Given the description of an element on the screen output the (x, y) to click on. 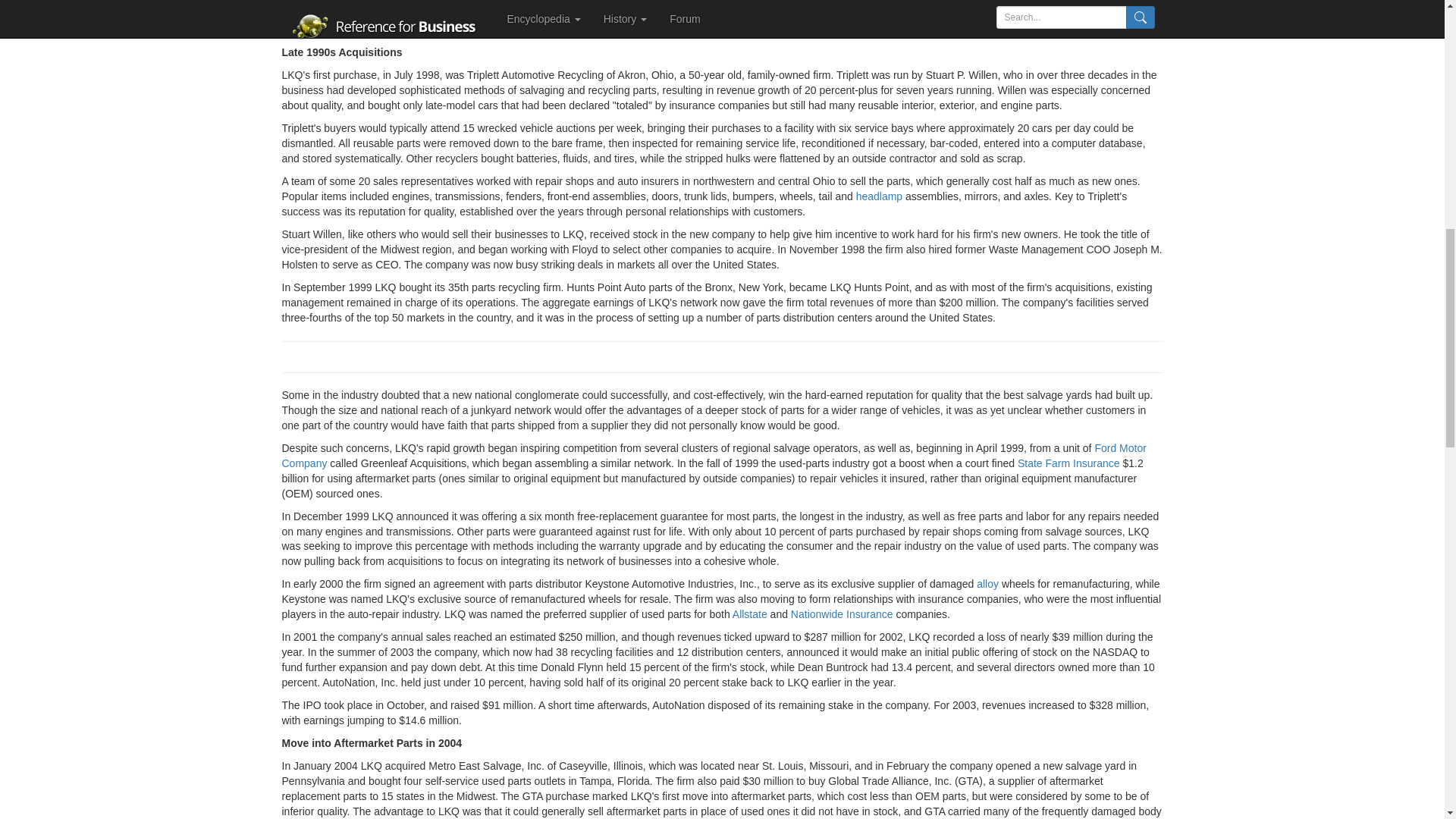
Nationwide Insurance (841, 613)
alloy (987, 583)
View 'ford motor company' definition from Wikipedia (714, 455)
View 'headlamp' definition from Wikipedia (879, 196)
View 'nationwide insurance' definition from Wikipedia (841, 613)
headlamp (879, 196)
View 'allstate' definition from Wikipedia (749, 613)
shorthand (369, 29)
View 'alloy' definition from Wikipedia (987, 583)
Ford Motor Company (714, 455)
State Farm Insurance (1068, 463)
Allstate (749, 613)
View 'state farm insurance' definition from Wikipedia (1068, 463)
View 'shorthand' definition from Wikipedia (369, 29)
